Given the description of an element on the screen output the (x, y) to click on. 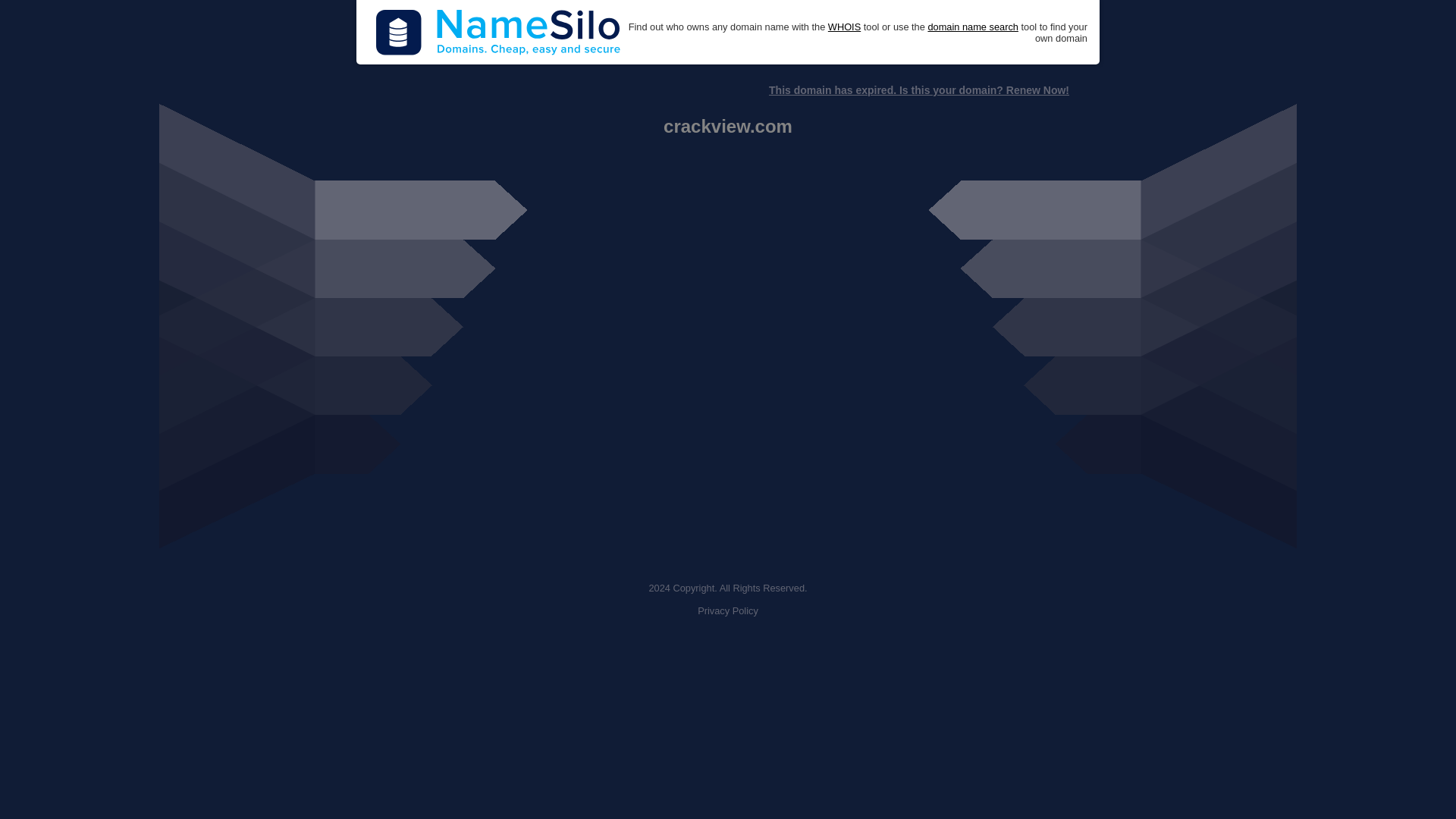
This domain has expired. Is this your domain? Renew Now! (918, 90)
domain name search (972, 26)
WHOIS (844, 26)
Privacy Policy (727, 610)
